Given the description of an element on the screen output the (x, y) to click on. 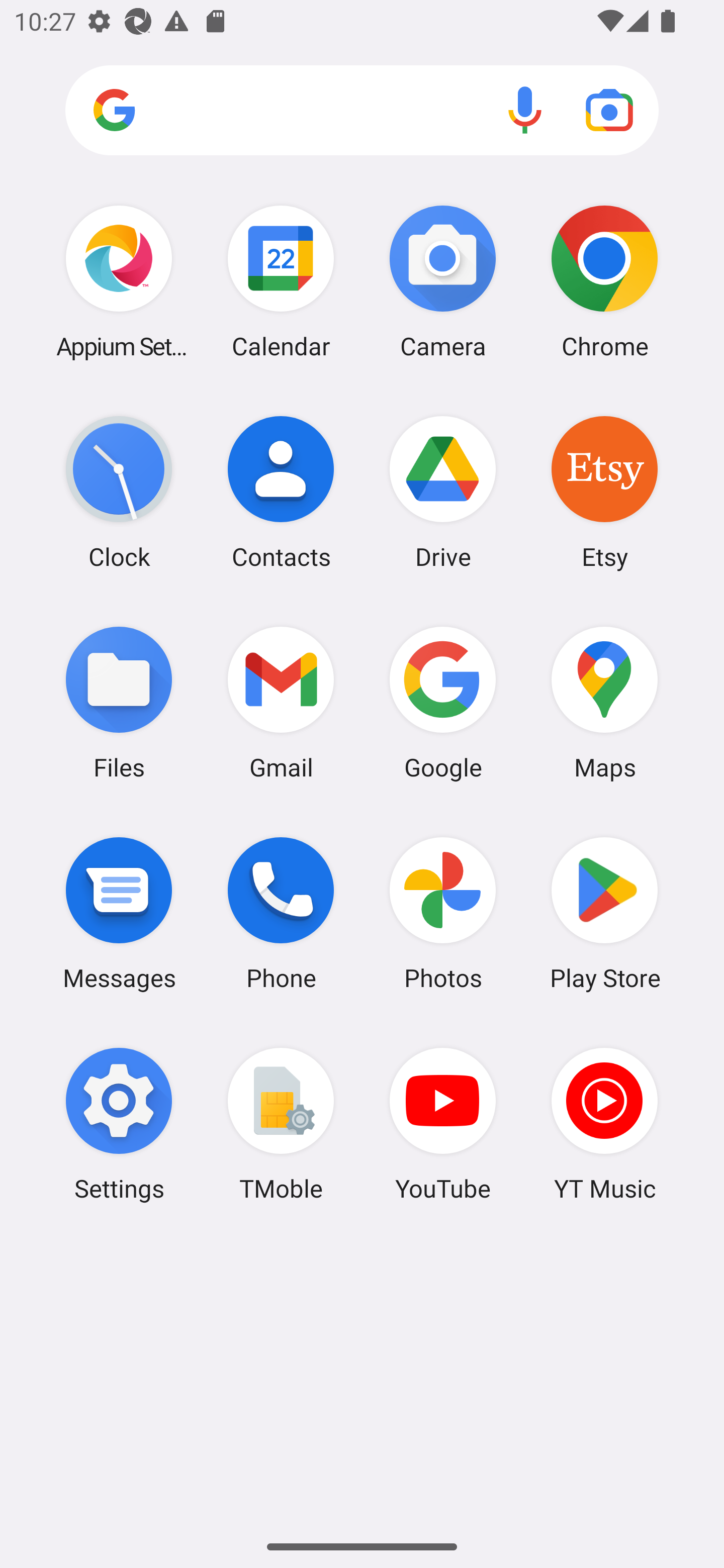
Search apps, web and more (361, 110)
Voice search (524, 109)
Google Lens (608, 109)
Appium Settings (118, 281)
Calendar (280, 281)
Camera (443, 281)
Chrome (604, 281)
Clock (118, 492)
Contacts (280, 492)
Drive (443, 492)
Etsy (604, 492)
Files (118, 702)
Gmail (280, 702)
Google (443, 702)
Maps (604, 702)
Messages (118, 913)
Phone (280, 913)
Photos (443, 913)
Play Store (604, 913)
Settings (118, 1124)
TMoble (280, 1124)
YouTube (443, 1124)
YT Music (604, 1124)
